Given the description of an element on the screen output the (x, y) to click on. 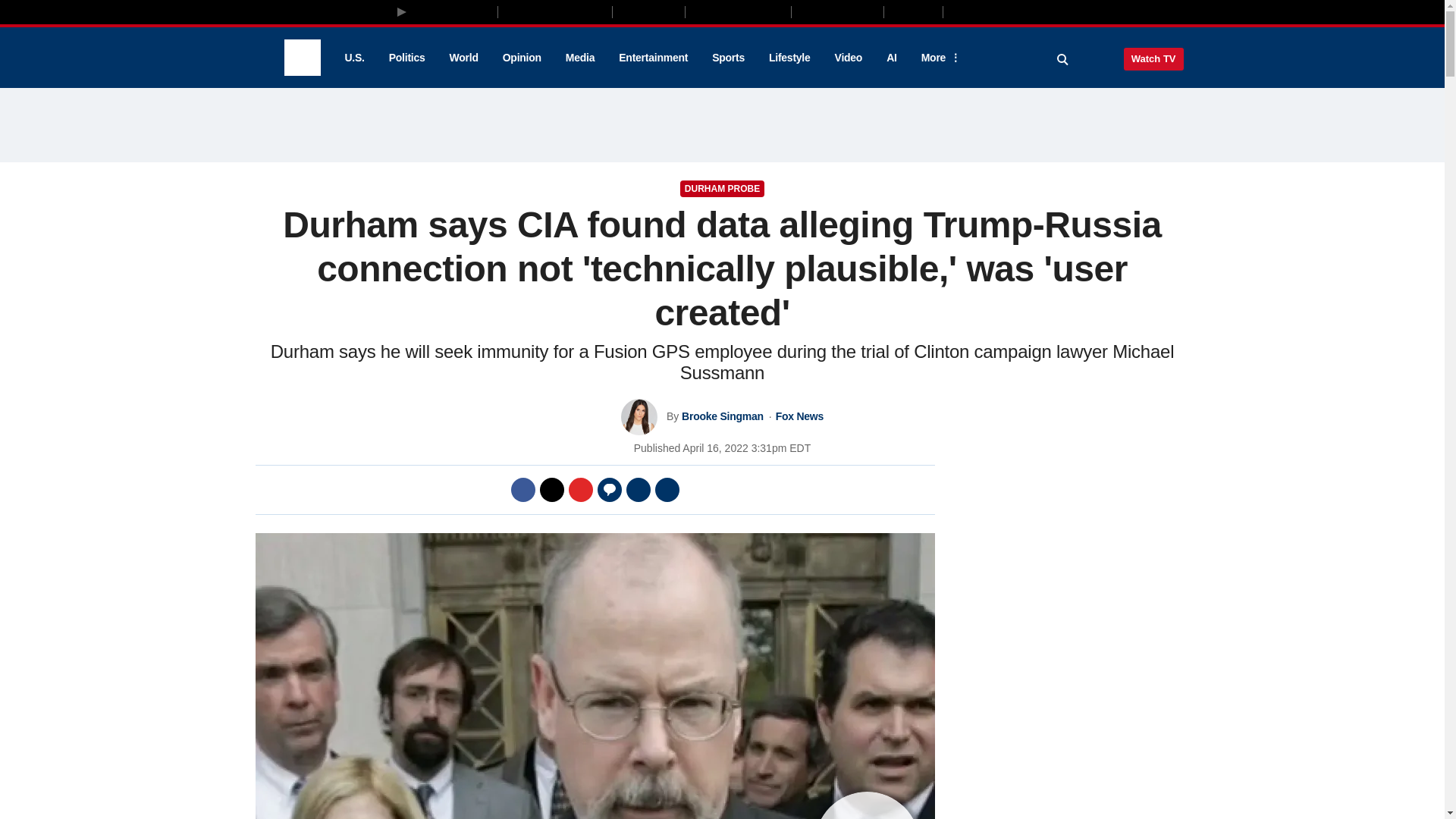
Sports (728, 57)
Fox News (301, 57)
Books (1007, 11)
Politics (407, 57)
Fox News Media (453, 11)
Video (848, 57)
Fox Business (554, 11)
Opinion (521, 57)
AI (891, 57)
Fox Weather (836, 11)
